Given the description of an element on the screen output the (x, y) to click on. 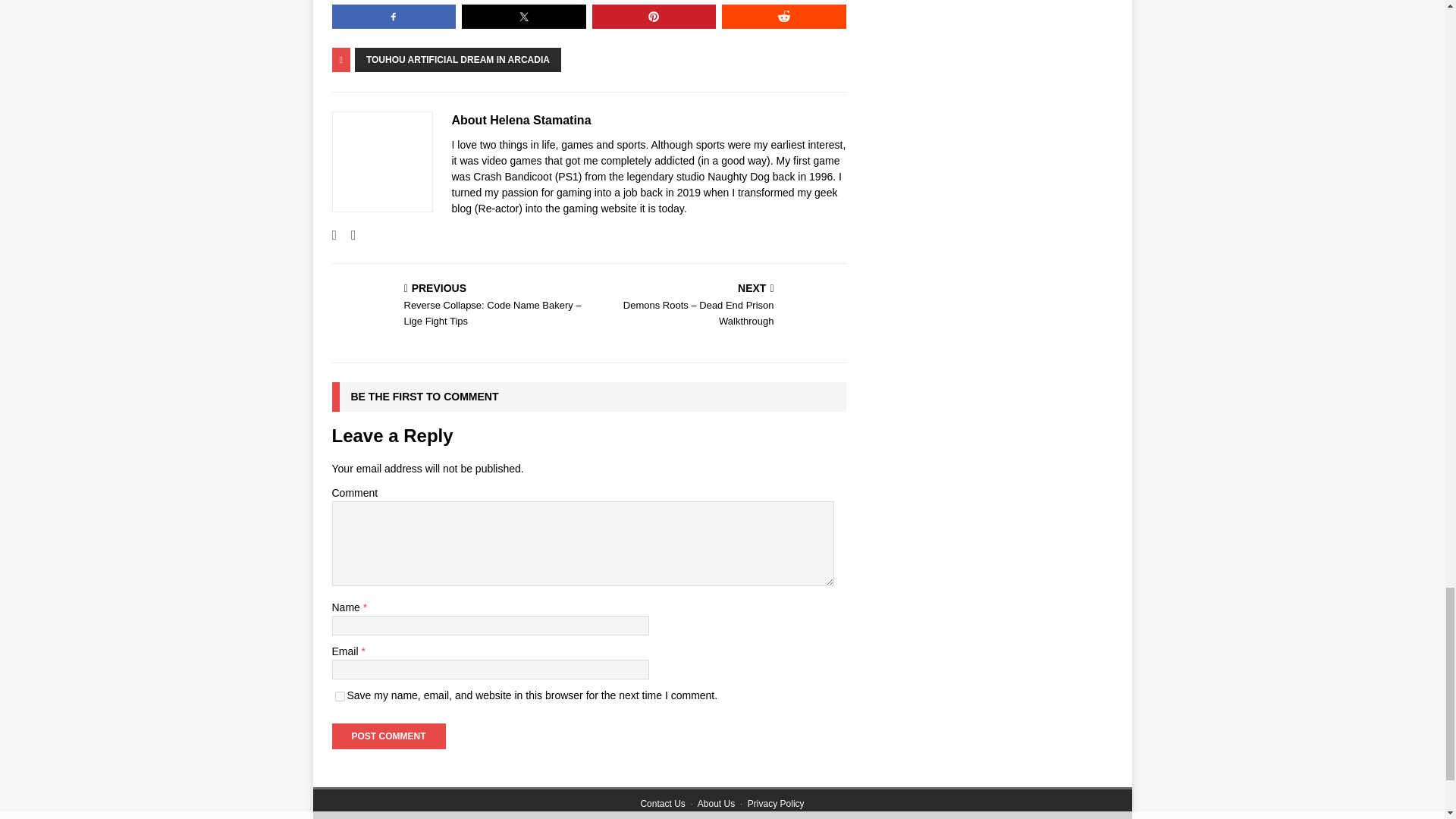
About Us (716, 803)
Post Comment (388, 736)
yes (339, 696)
Follow Helena Stamatina on Twitter (347, 234)
Privacy Policy (776, 803)
Contact Us (662, 803)
TOUHOU ARTIFICIAL DREAM IN ARCADIA (457, 59)
Post Comment (388, 736)
